Given the description of an element on the screen output the (x, y) to click on. 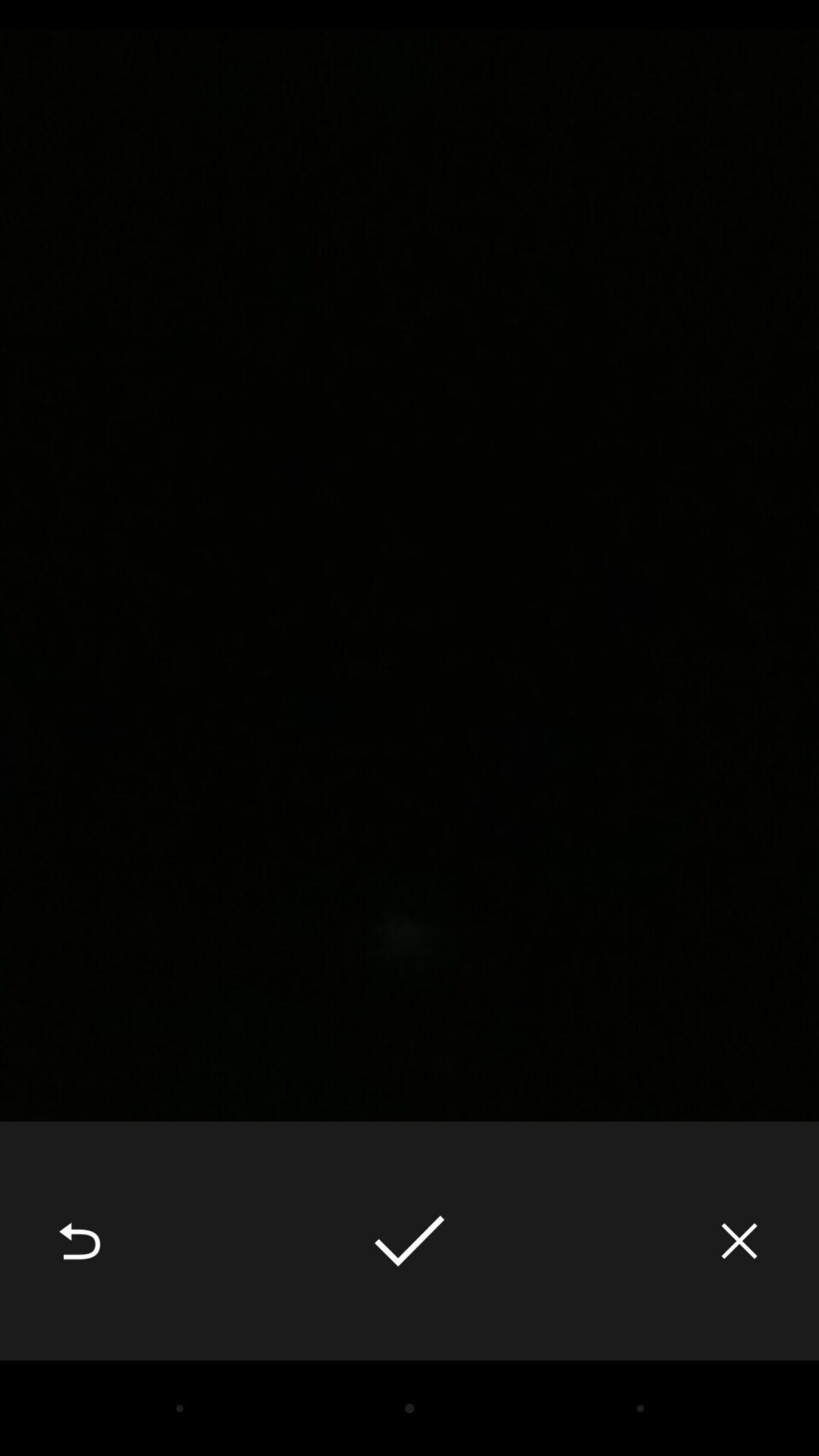
launch icon at the bottom left corner (79, 1240)
